Given the description of an element on the screen output the (x, y) to click on. 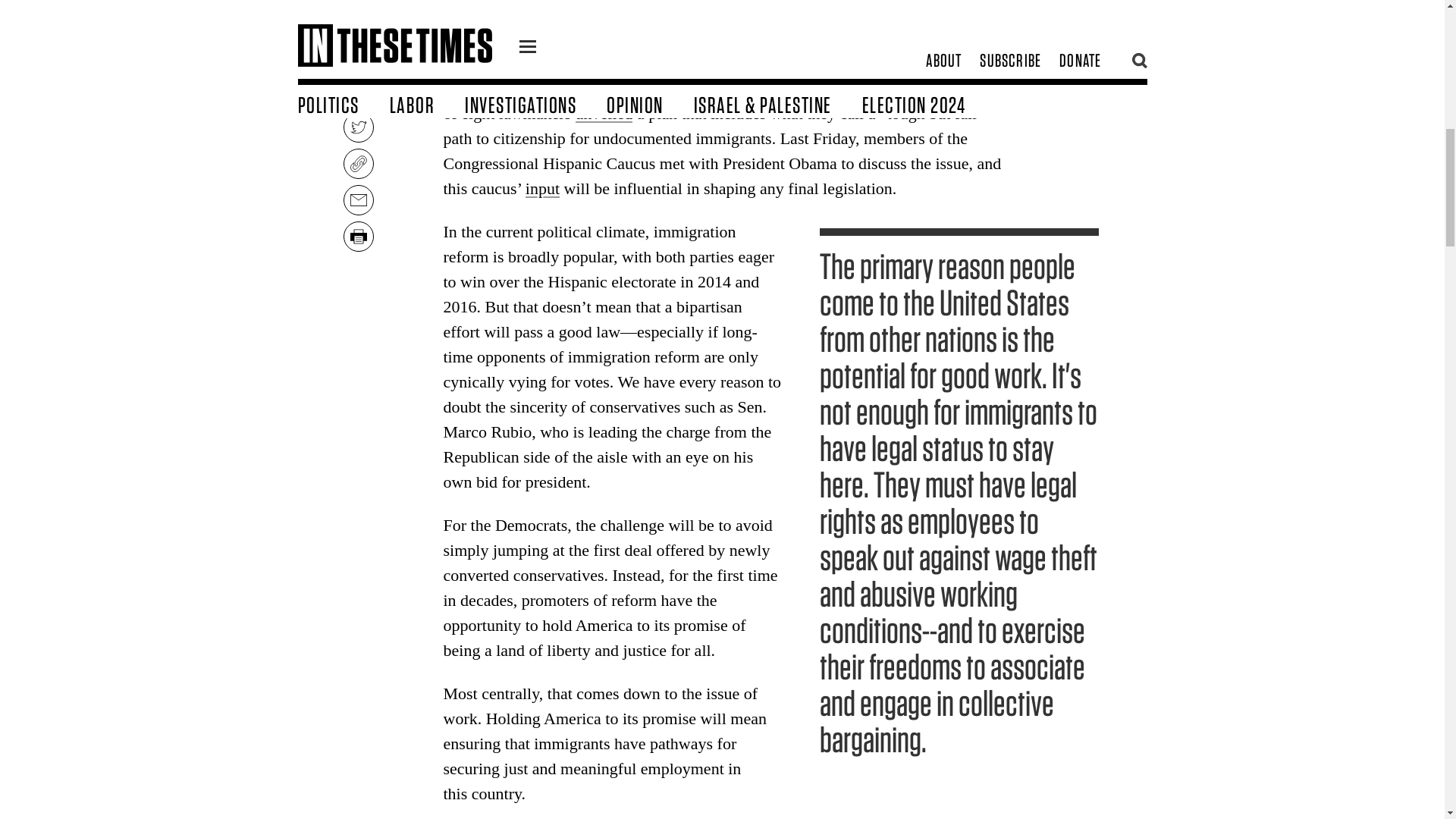
input (542, 188)
unveiled (604, 113)
Flickr (795, 3)
